Given the description of an element on the screen output the (x, y) to click on. 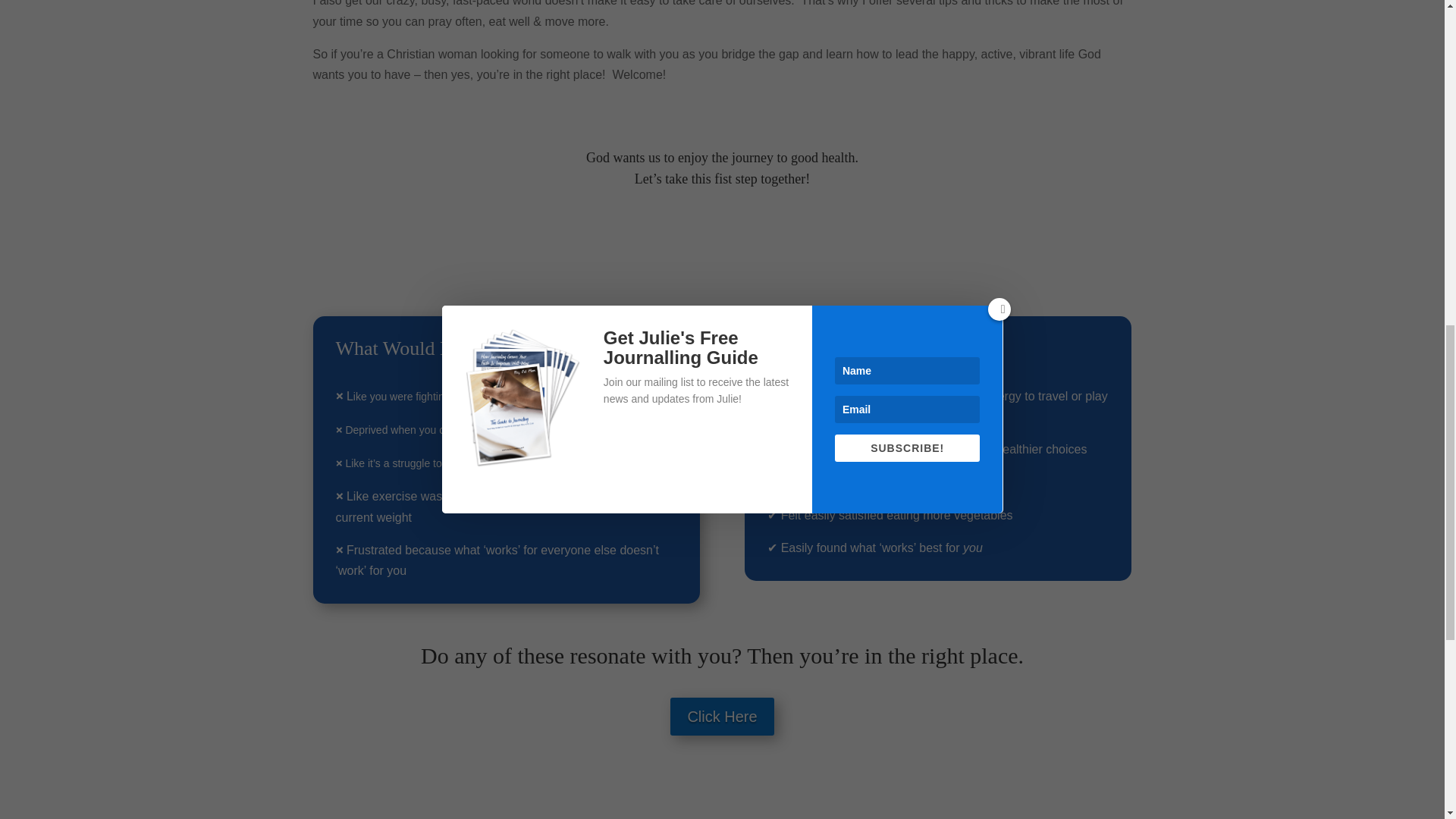
Click Here (721, 716)
